Given the description of an element on the screen output the (x, y) to click on. 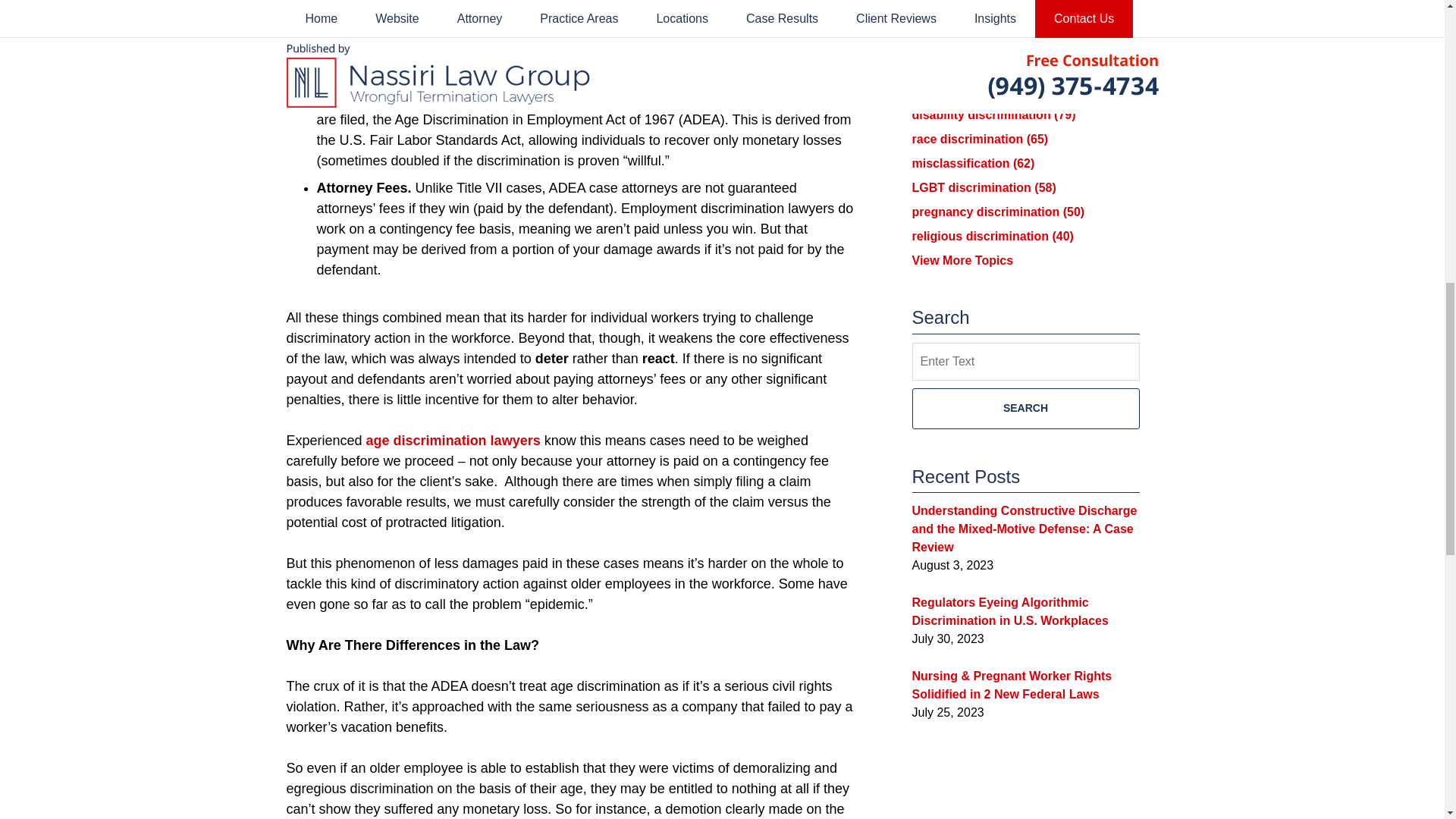
age discrimination lawyers (453, 440)
